Given the description of an element on the screen output the (x, y) to click on. 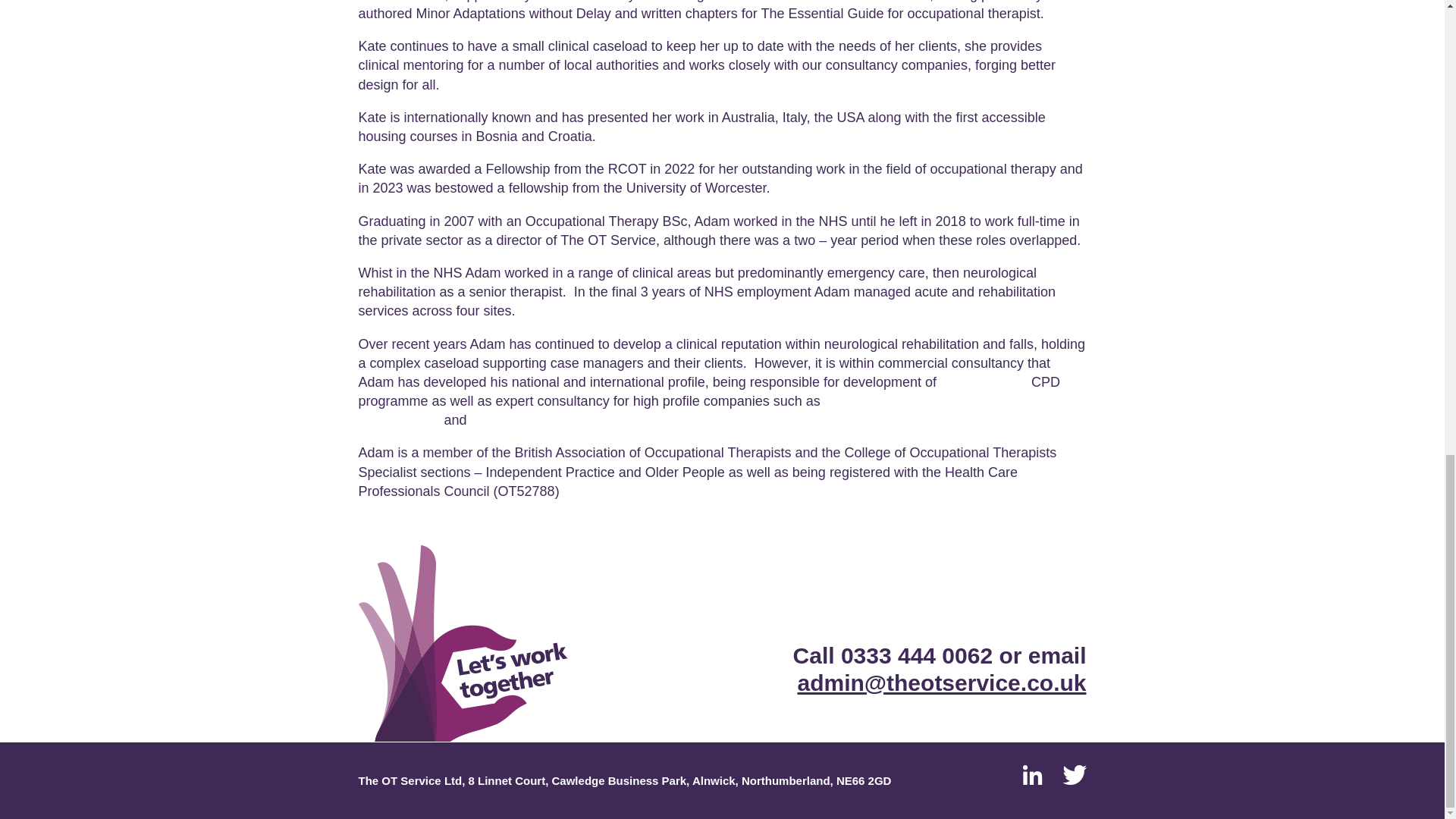
Mangar International (700, 410)
The OT Show (985, 381)
Twitter (1073, 774)
Invacare (960, 400)
AKW (840, 400)
Abacus Healthca (525, 419)
Closomat (893, 400)
LinkedIn (1032, 774)
